Given the description of an element on the screen output the (x, y) to click on. 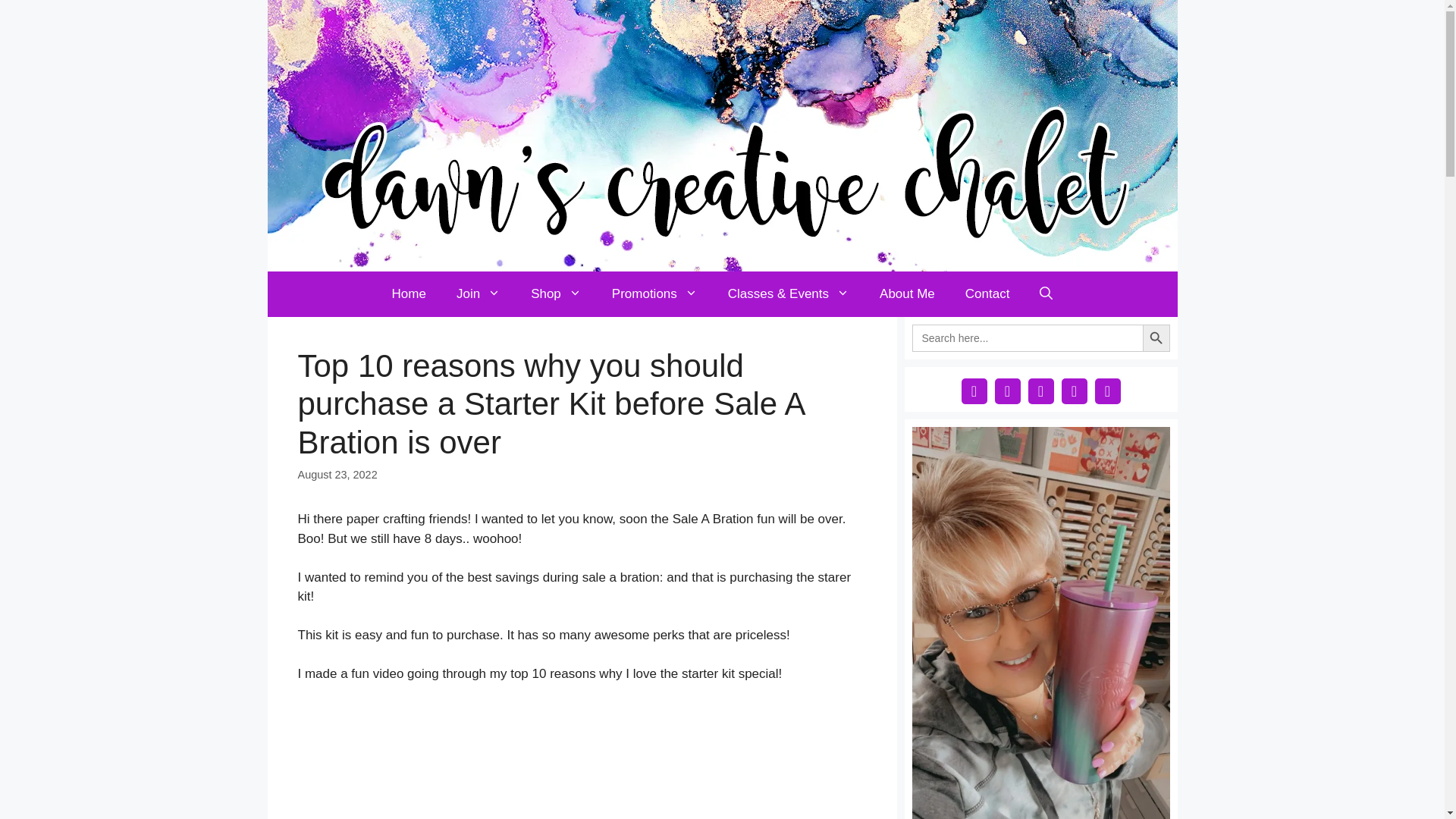
Shop (555, 293)
Search Button (1155, 338)
Contact (987, 293)
Home (409, 293)
Promotions (654, 293)
Join (478, 293)
About Me (907, 293)
